Given the description of an element on the screen output the (x, y) to click on. 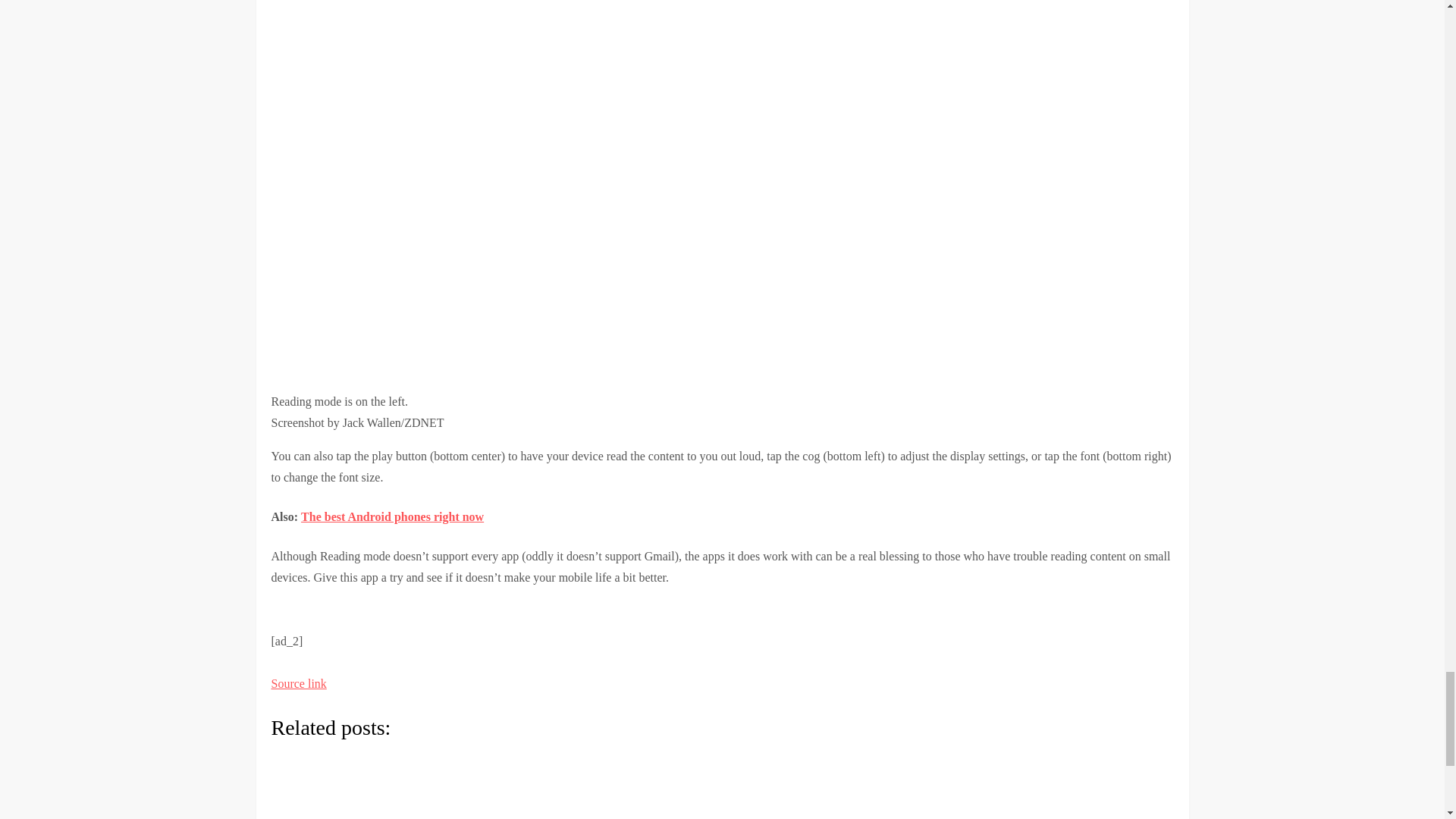
Source link (298, 683)
The best Android phones right now (392, 516)
DuckDuckGo brings is privacy-focused browser to Macs (454, 787)
